Given the description of an element on the screen output the (x, y) to click on. 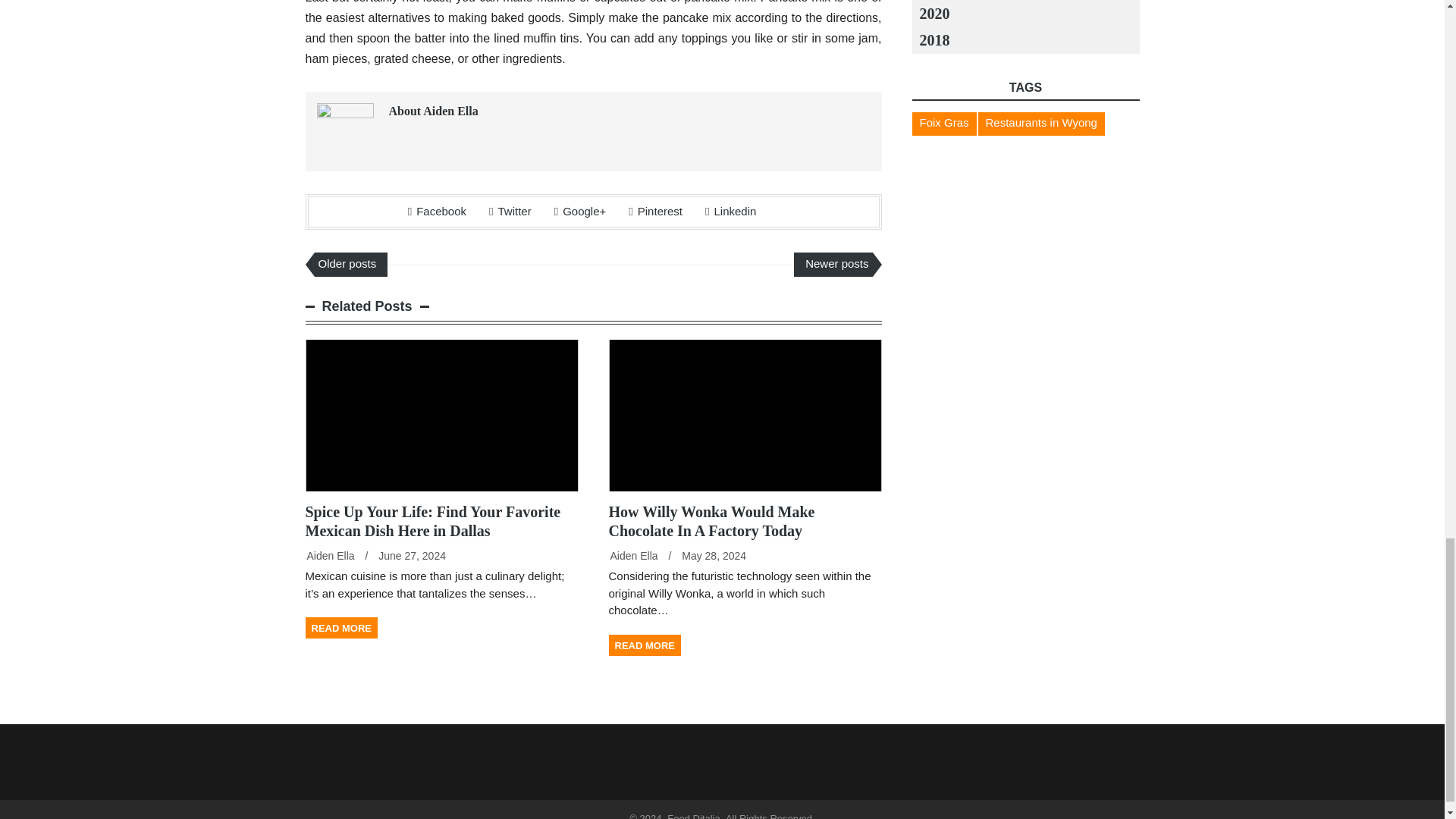
Newer posts (832, 264)
Posts by Aiden Ella (329, 555)
Older posts (350, 264)
Aiden Ella (634, 555)
Aiden Ella (329, 555)
Twitter (510, 210)
READ MORE (643, 645)
READ MORE (340, 627)
Facebook (436, 210)
